Given the description of an element on the screen output the (x, y) to click on. 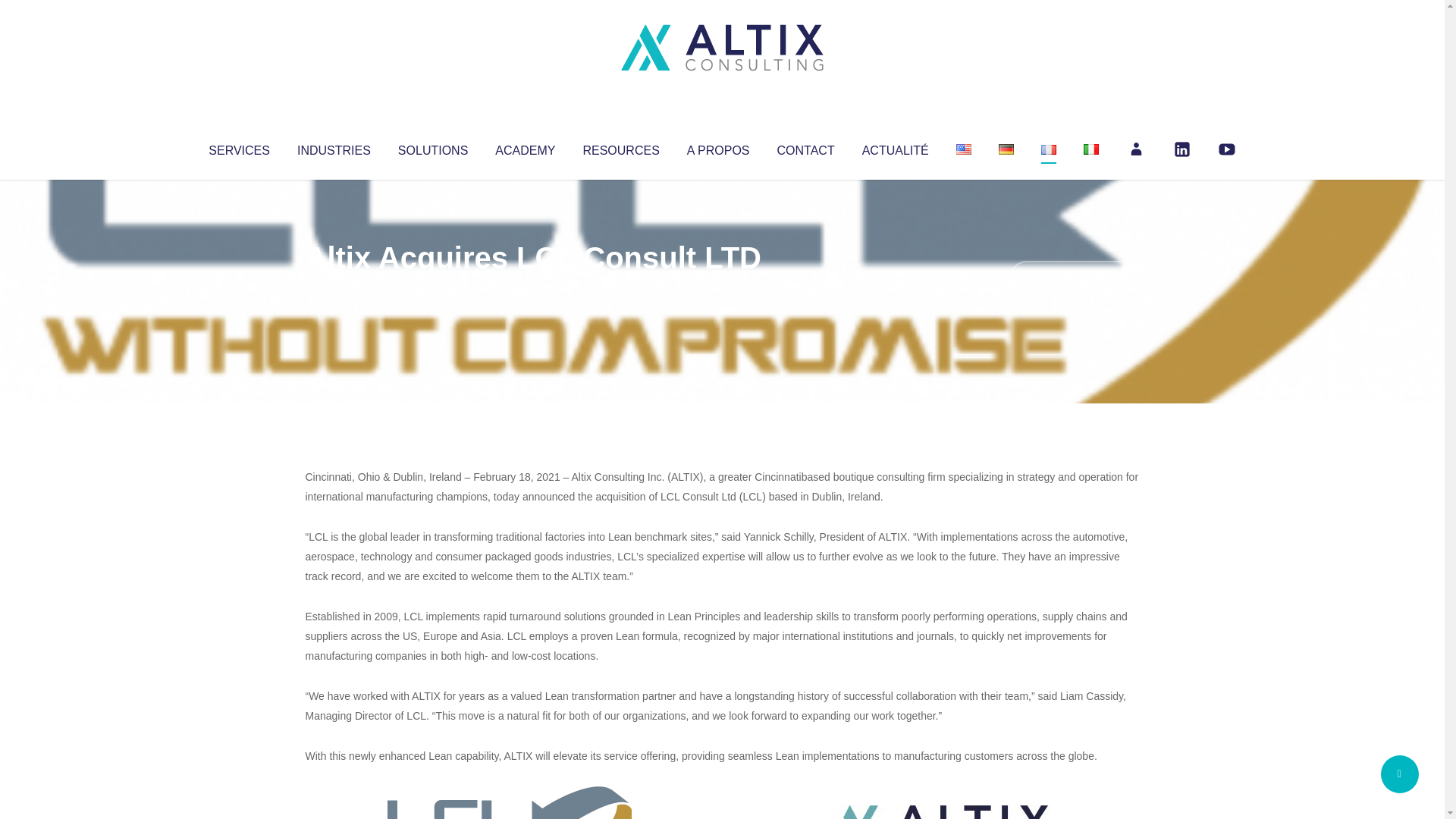
SOLUTIONS (432, 146)
Altix (333, 287)
Articles par Altix (333, 287)
ACADEMY (524, 146)
No Comments (1073, 278)
A PROPOS (718, 146)
Uncategorized (530, 287)
INDUSTRIES (334, 146)
RESOURCES (620, 146)
SERVICES (238, 146)
